Given the description of an element on the screen output the (x, y) to click on. 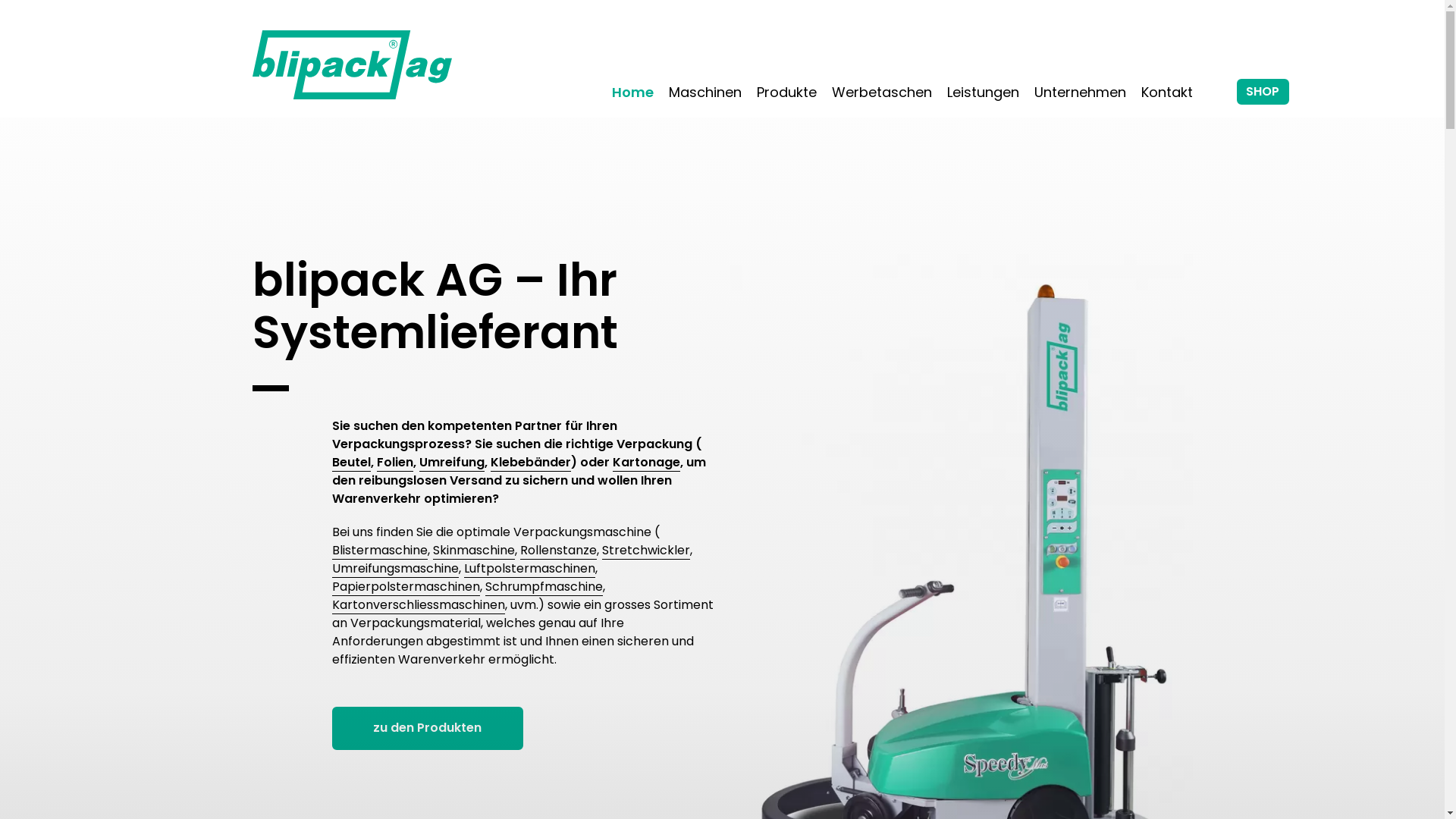
Beutel Element type: text (351, 462)
SHOP Element type: text (1262, 91)
Blistermaschine Element type: text (379, 550)
Leistungen Element type: text (982, 91)
Luftpolstermaschinen Element type: text (529, 568)
Werbetaschen Element type: text (880, 91)
Kontakt Element type: text (1165, 91)
Skinmaschine Element type: text (473, 550)
zu den Produkten Element type: text (427, 727)
Umreifung Element type: text (450, 462)
Home Element type: text (631, 91)
Rollenstanze Element type: text (558, 550)
Produkte Element type: text (786, 91)
Stretchwickler Element type: text (646, 550)
Schrumpfmaschine Element type: text (543, 586)
Kartonverschliessmaschinen Element type: text (418, 605)
Unternehmen Element type: text (1079, 91)
Kartonage Element type: text (646, 462)
Maschinen Element type: text (705, 91)
Folien Element type: text (394, 462)
Umreifungsmaschine Element type: text (395, 568)
Papierpolstermaschinen Element type: text (406, 586)
